Given the description of an element on the screen output the (x, y) to click on. 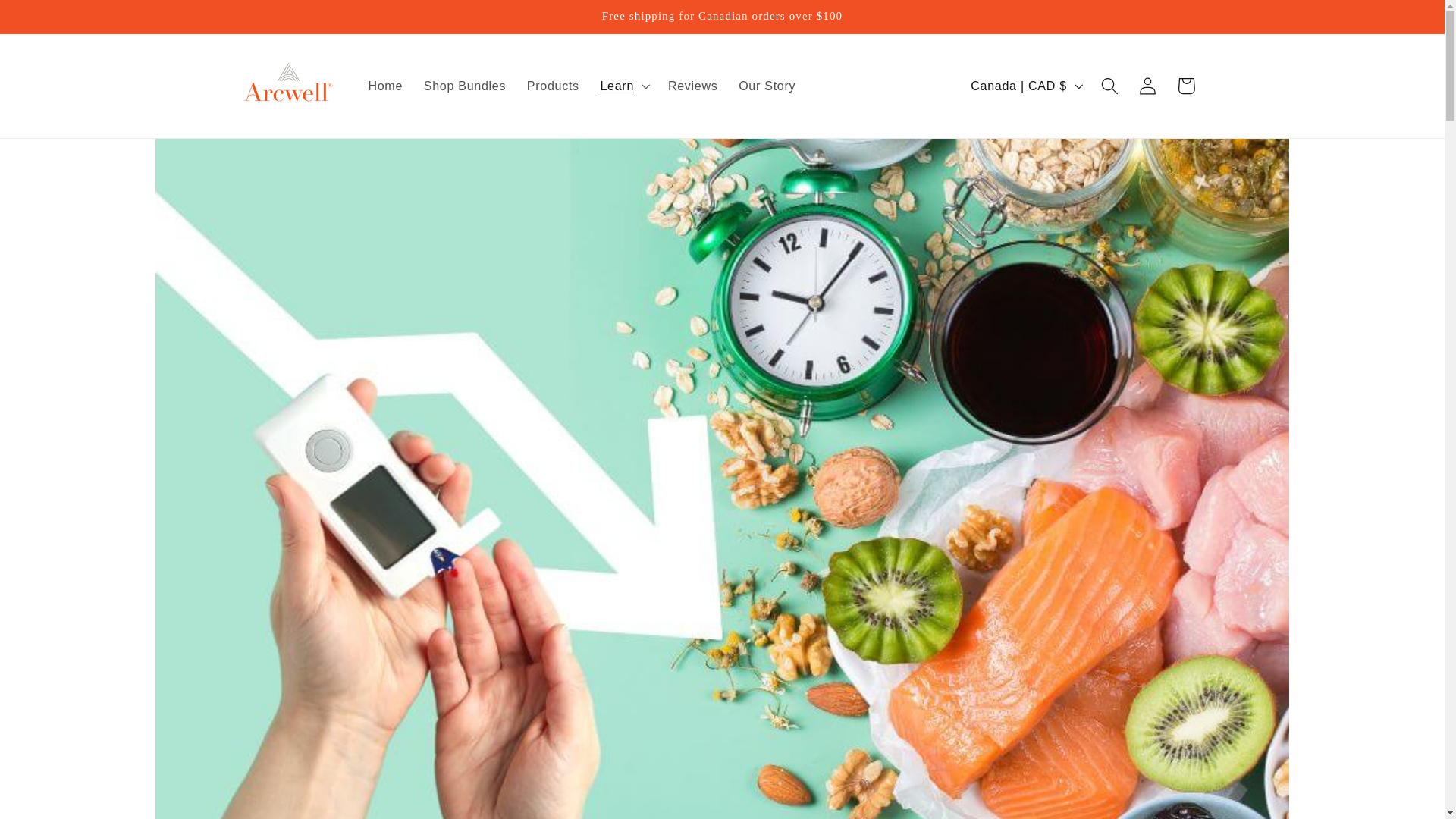
Cart (1186, 85)
Home (385, 85)
Shop Bundles (464, 85)
Products (552, 85)
Our Story (767, 85)
Log in (1147, 85)
Skip to content (52, 20)
Reviews (693, 85)
